Given the description of an element on the screen output the (x, y) to click on. 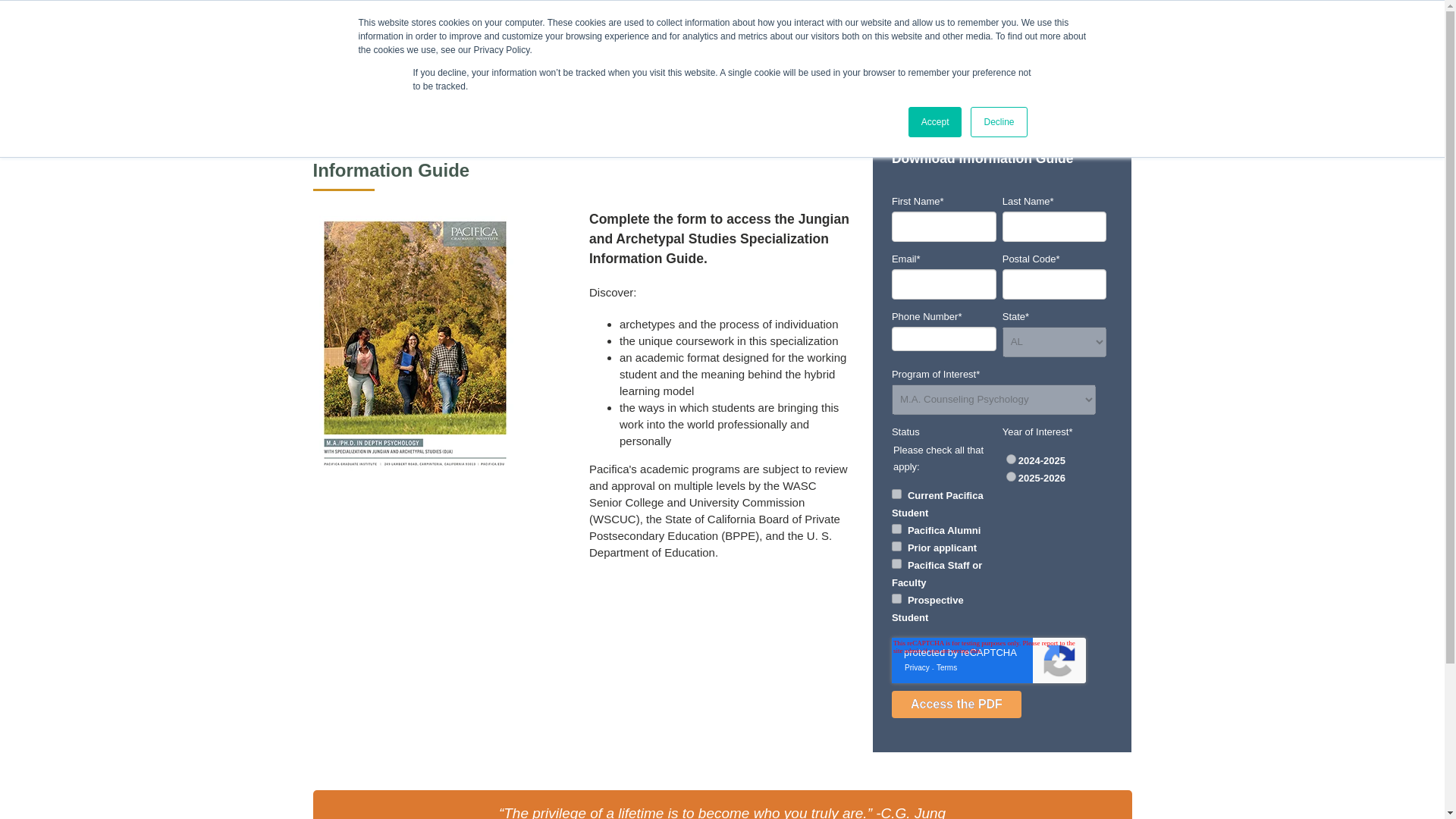
Access the PDF (956, 704)
Current Pacifica Student (896, 493)
Experience Pacifica (890, 53)
Accept (935, 122)
logo-web.png (433, 72)
reCAPTCHA (988, 660)
Decline (998, 122)
2024-2025 (1011, 459)
Prior applicant (896, 546)
Pacifica Alumni (896, 528)
Prospective Student (896, 598)
Access the PDF (956, 704)
Pacifica Staff or Faculty (896, 563)
2025-2026 (1011, 476)
